Given the description of an element on the screen output the (x, y) to click on. 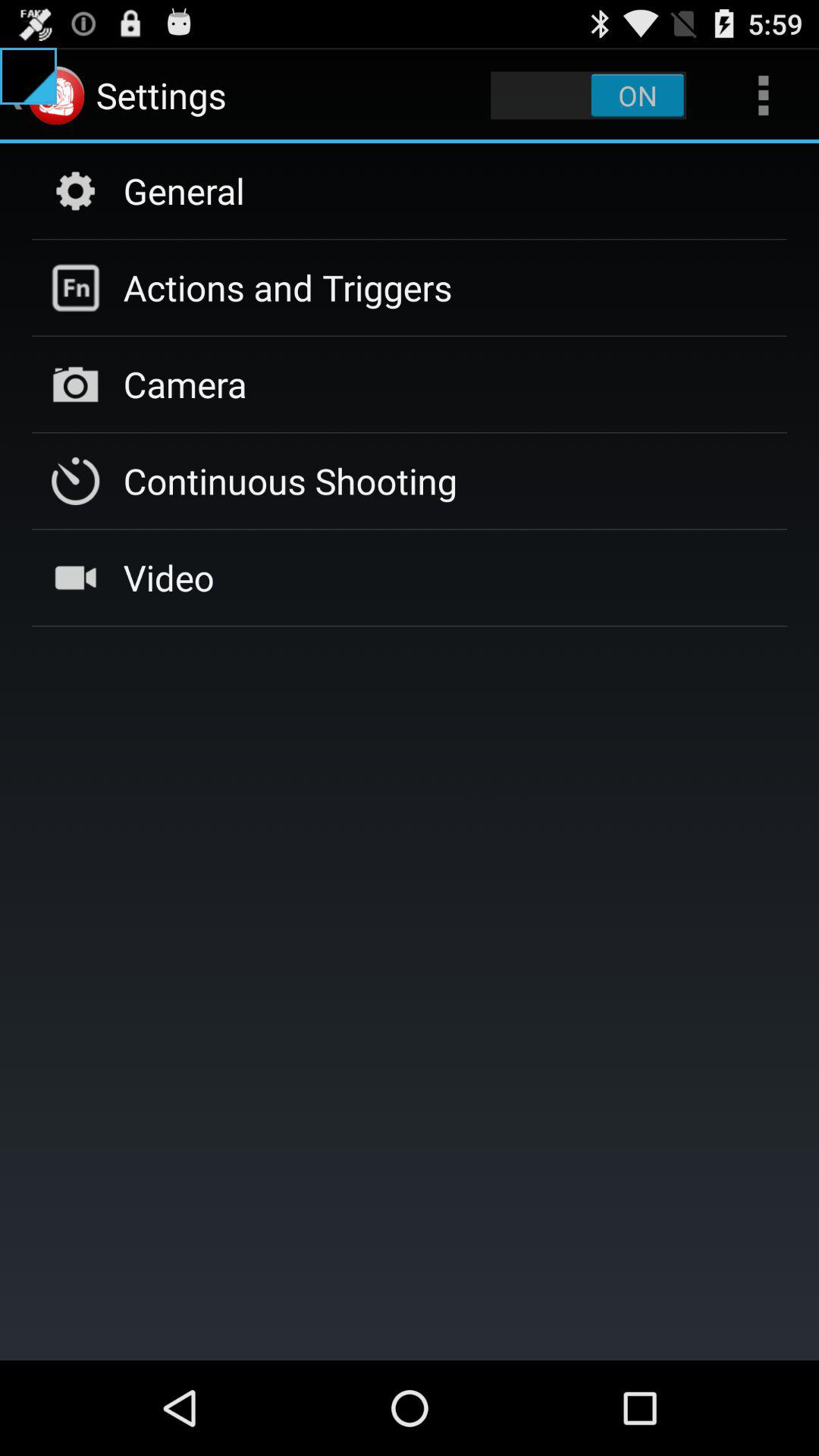
turn on app below the continuous shooting (168, 577)
